Given the description of an element on the screen output the (x, y) to click on. 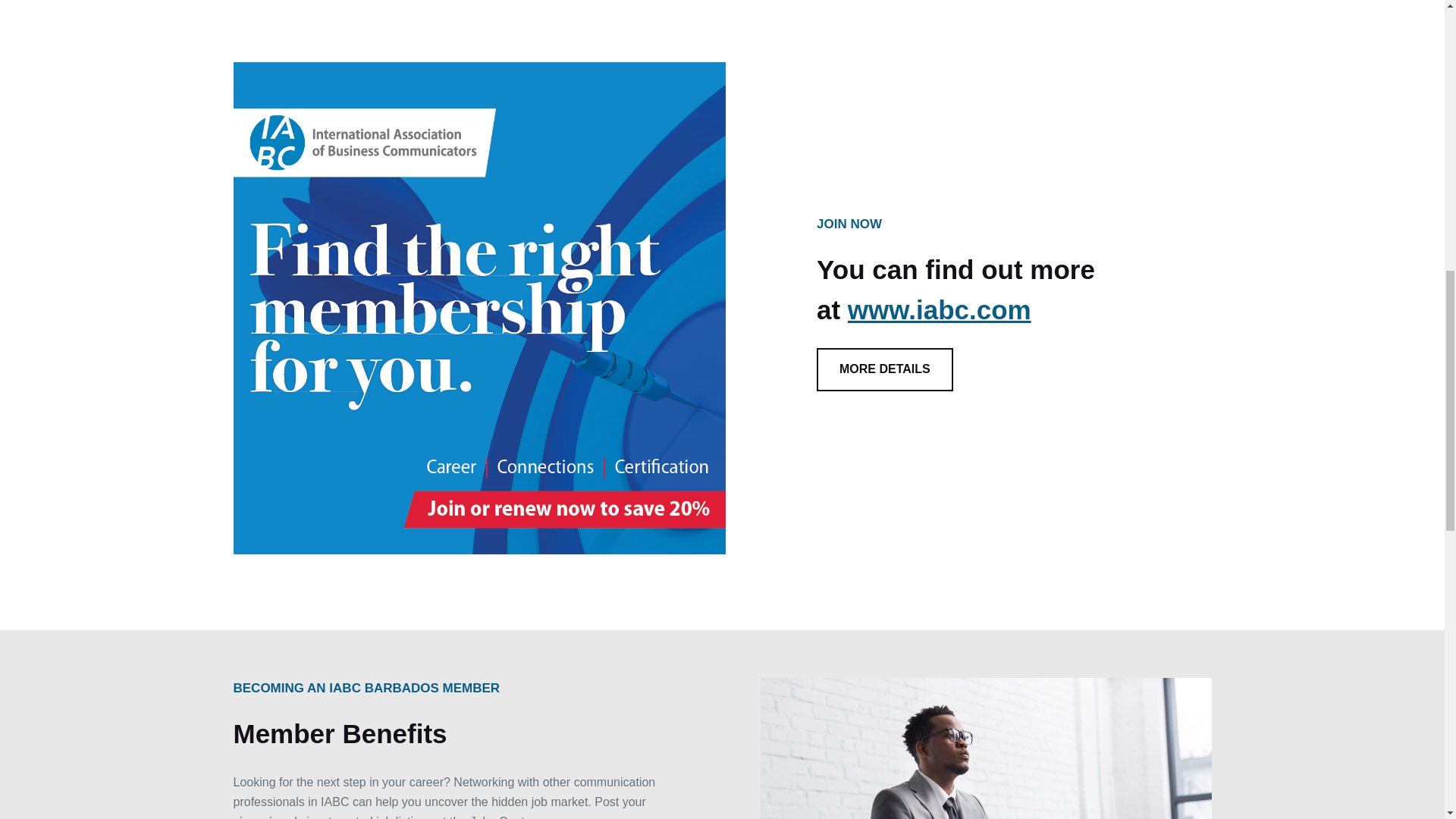
MORE DETAILS (884, 369)
www.iabc.com (938, 309)
